Given the description of an element on the screen output the (x, y) to click on. 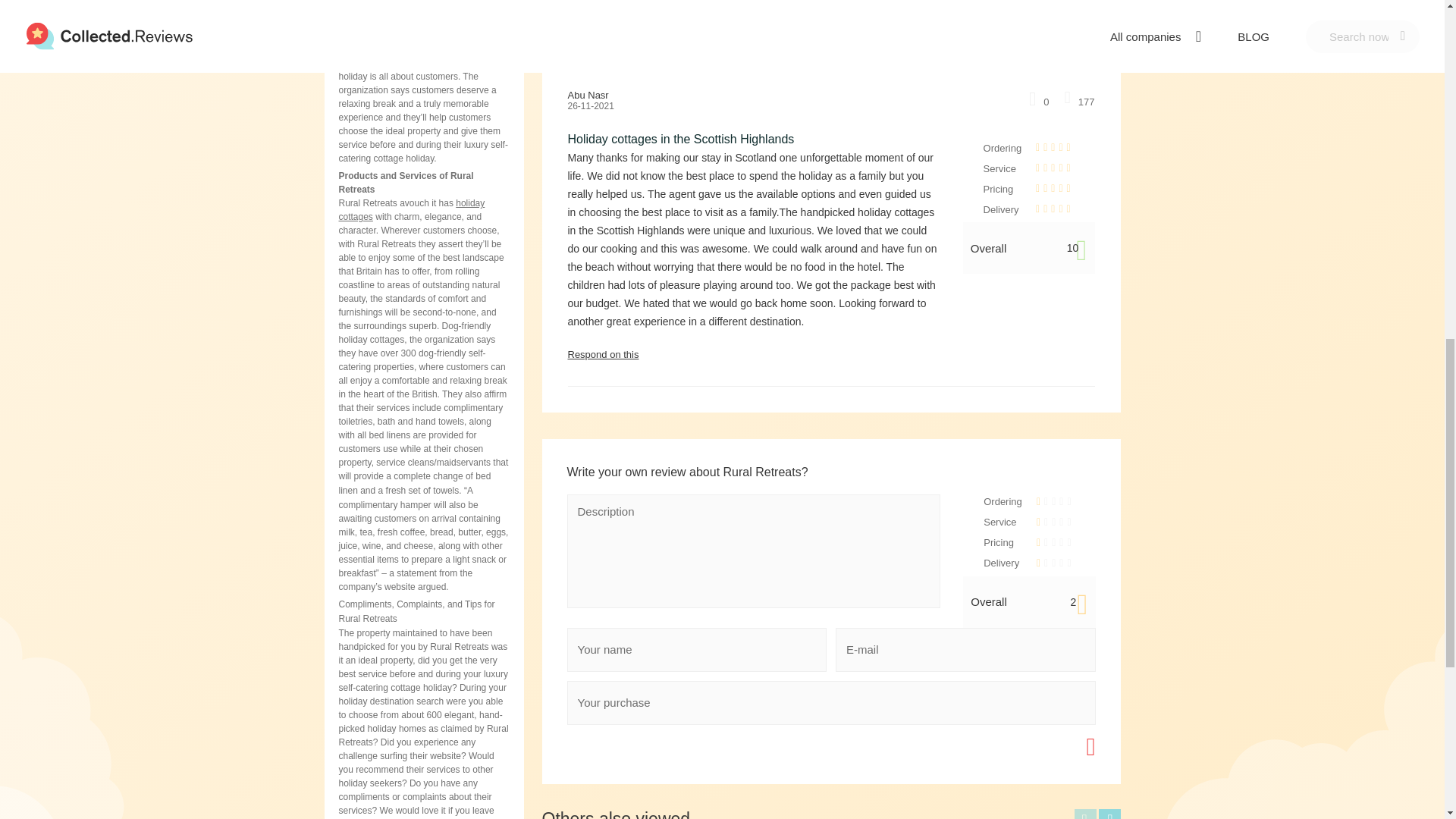
holiday cottages (410, 209)
Write your own review (1034, 41)
Send your review (1044, 746)
177 (1079, 101)
Respond on this (830, 354)
